Given the description of an element on the screen output the (x, y) to click on. 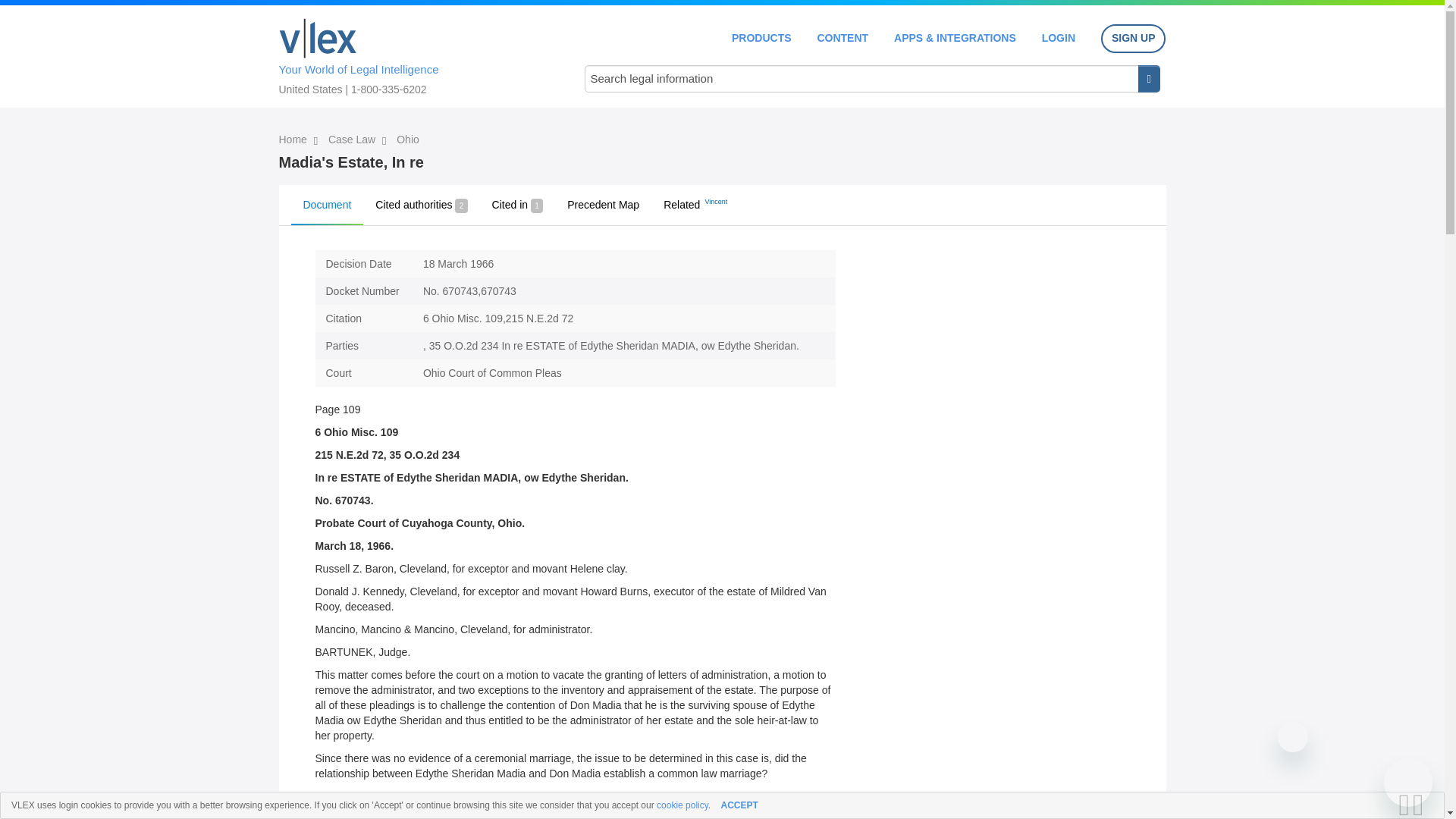
CONTENT (841, 37)
CLOSE (1422, 805)
Ohio (407, 139)
LOGIN (1058, 37)
SIGN UP (1133, 38)
cookie policy (681, 805)
ACCEPT (739, 805)
Home (317, 38)
Home (294, 139)
Your World of Legal Intelligence (416, 53)
PRODUCTS (762, 37)
Case Law (353, 139)
